Given the description of an element on the screen output the (x, y) to click on. 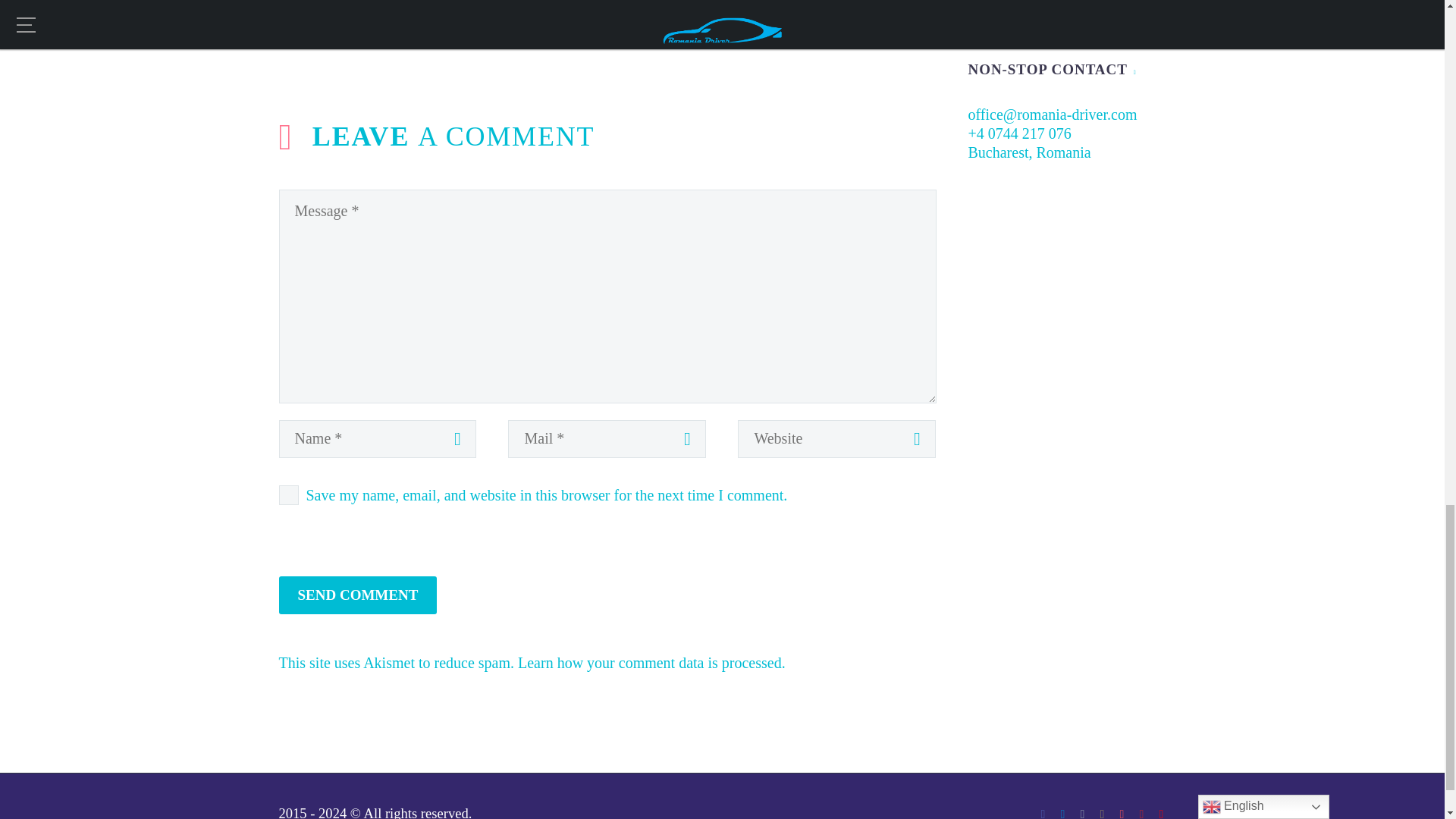
Twitter (311, 28)
Pinterest (334, 28)
Tumblr (359, 28)
SEND COMMENT (358, 595)
Facebook (288, 28)
Learn how your comment data is processed (649, 662)
Reddit (406, 28)
LinkedIn (381, 28)
